Given the description of an element on the screen output the (x, y) to click on. 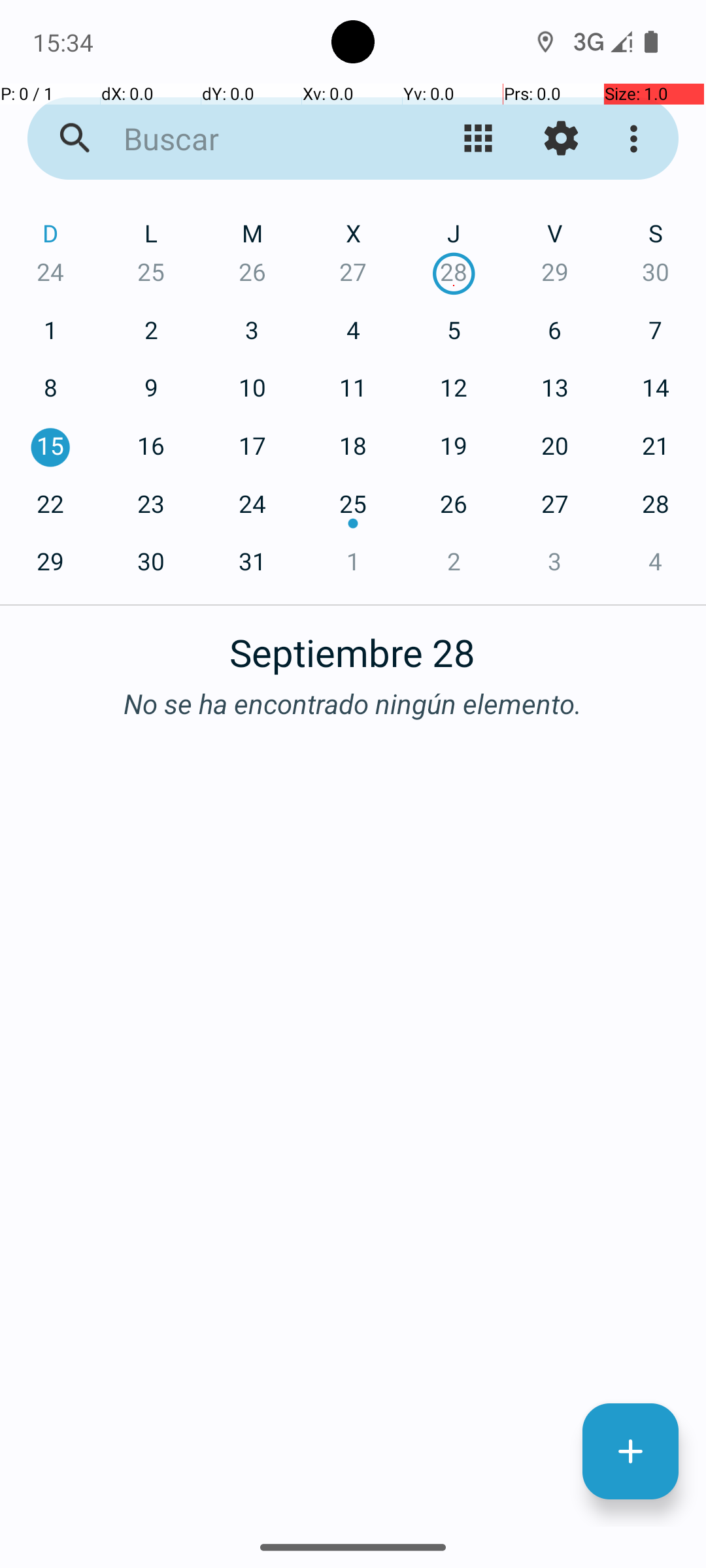
Septiembre 28 Element type: android.widget.TextView (352, 644)
No se ha encontrado ningún elemento. Element type: android.widget.TextView (352, 702)
